Given the description of an element on the screen output the (x, y) to click on. 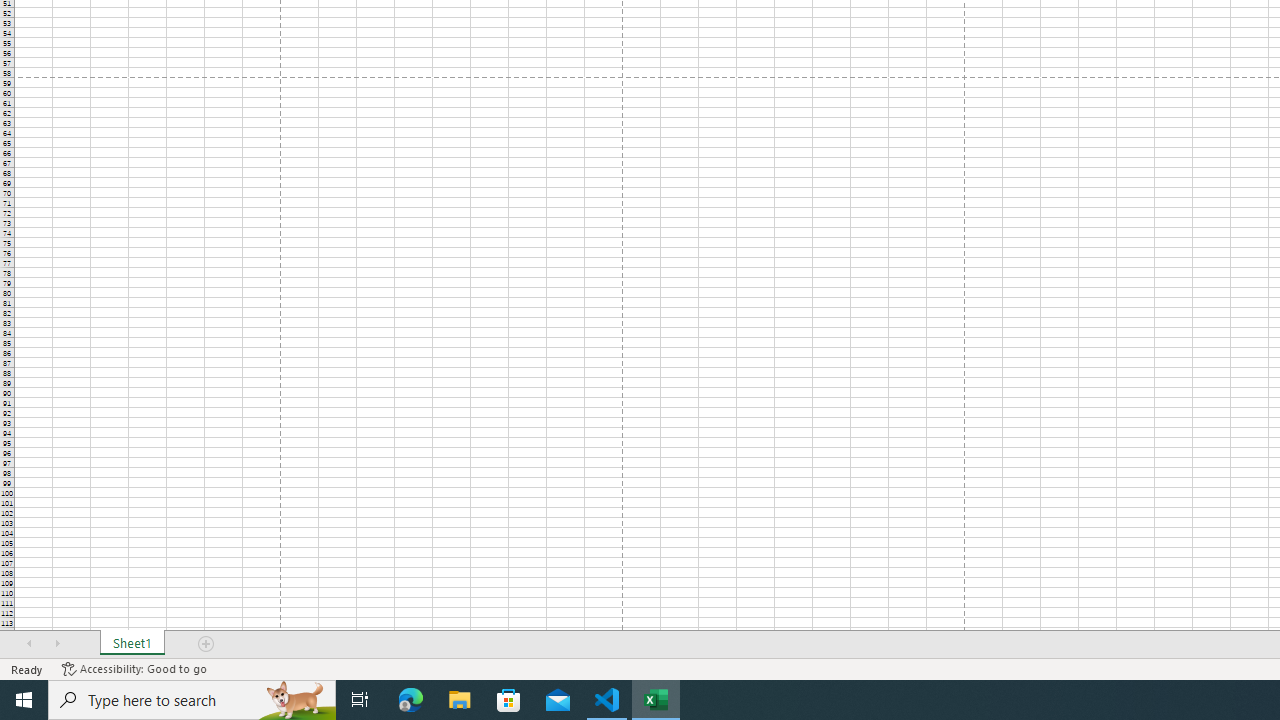
Sheet1 (132, 644)
Accessibility Checker Accessibility: Good to go (134, 668)
Scroll Left (29, 644)
Add Sheet (207, 644)
Scroll Right (57, 644)
